Given the description of an element on the screen output the (x, y) to click on. 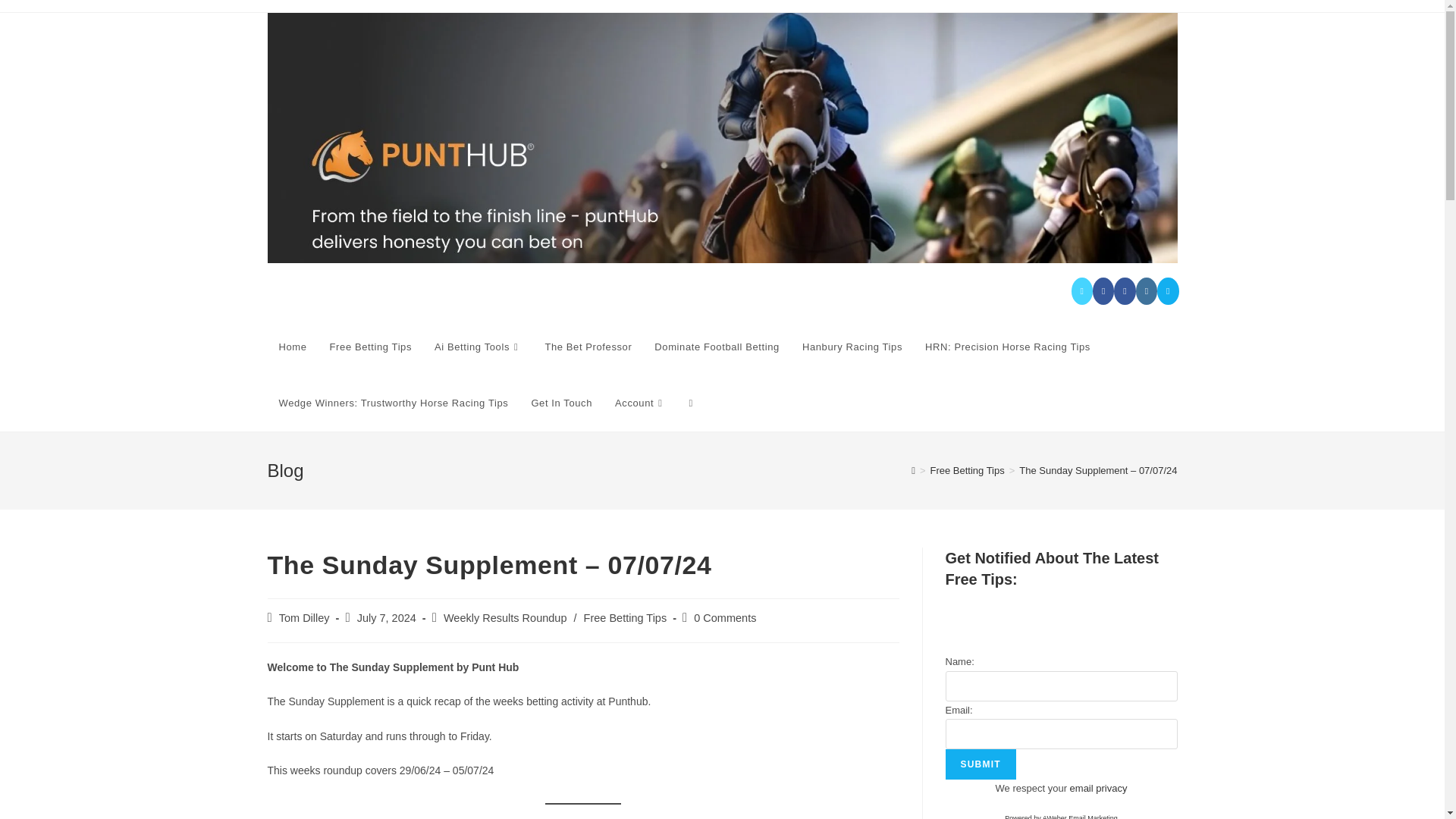
Account (641, 403)
Free Betting Tips (370, 347)
Home (291, 347)
Posts by Tom Dilley (304, 617)
Wedge Winners: Trustworthy Horse Racing Tips (392, 403)
Hanbury Racing Tips (852, 347)
Privacy Policy (1098, 787)
The Bet Professor (587, 347)
Submit (979, 764)
Get In Touch (561, 403)
AWeber Email Marketing (1061, 816)
Dominate Football Betting (716, 347)
Ai Betting Tools (477, 347)
HRN: Precision Horse Racing Tips (1008, 347)
